Given the description of an element on the screen output the (x, y) to click on. 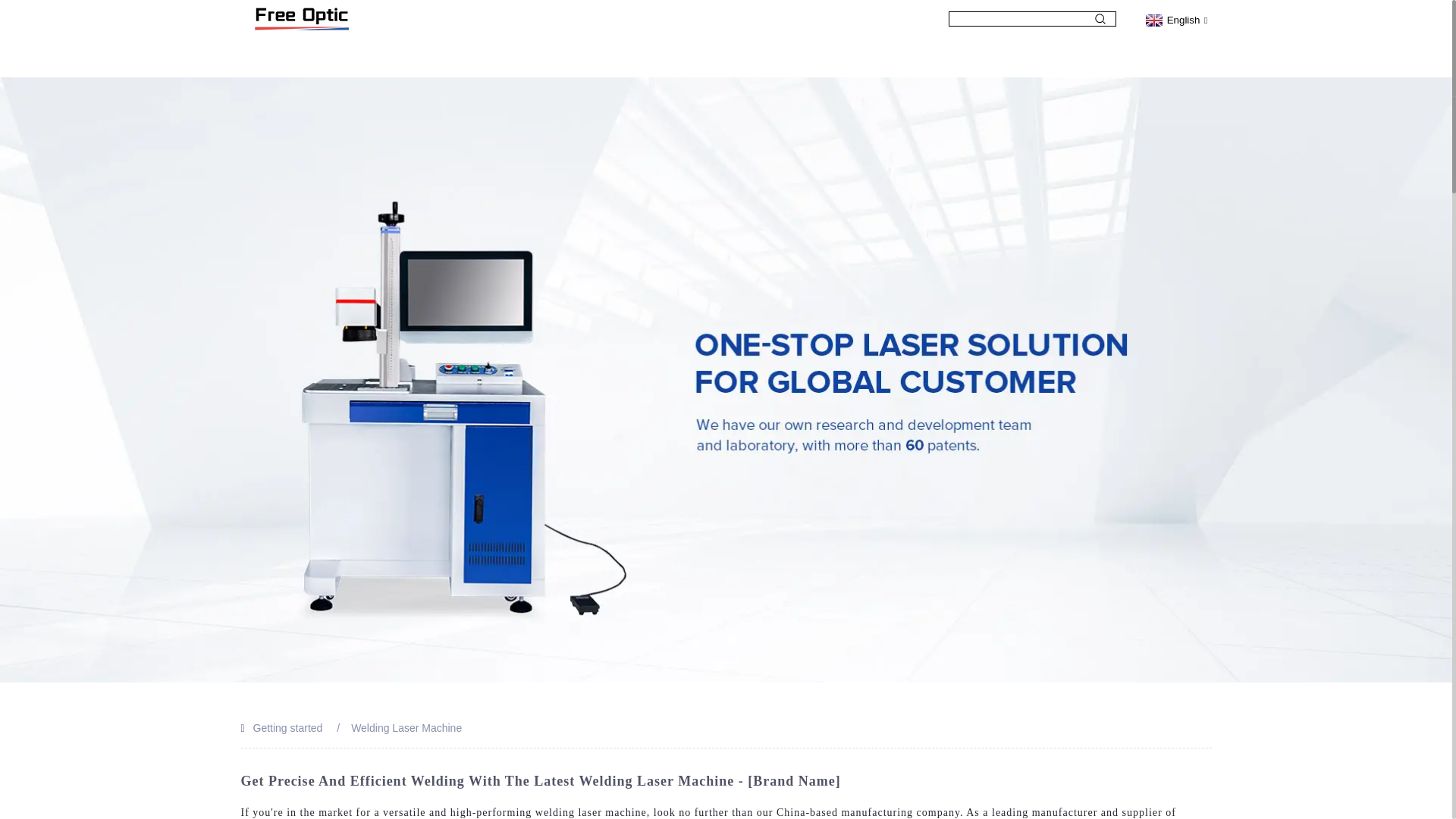
Solution (786, 58)
Video (690, 58)
Contact Us (1049, 58)
Technical Support (913, 58)
About Us (487, 58)
Getting started (288, 727)
Welding Laser Machine (405, 727)
English (1174, 19)
Products (593, 58)
Home (388, 58)
